Given the description of an element on the screen output the (x, y) to click on. 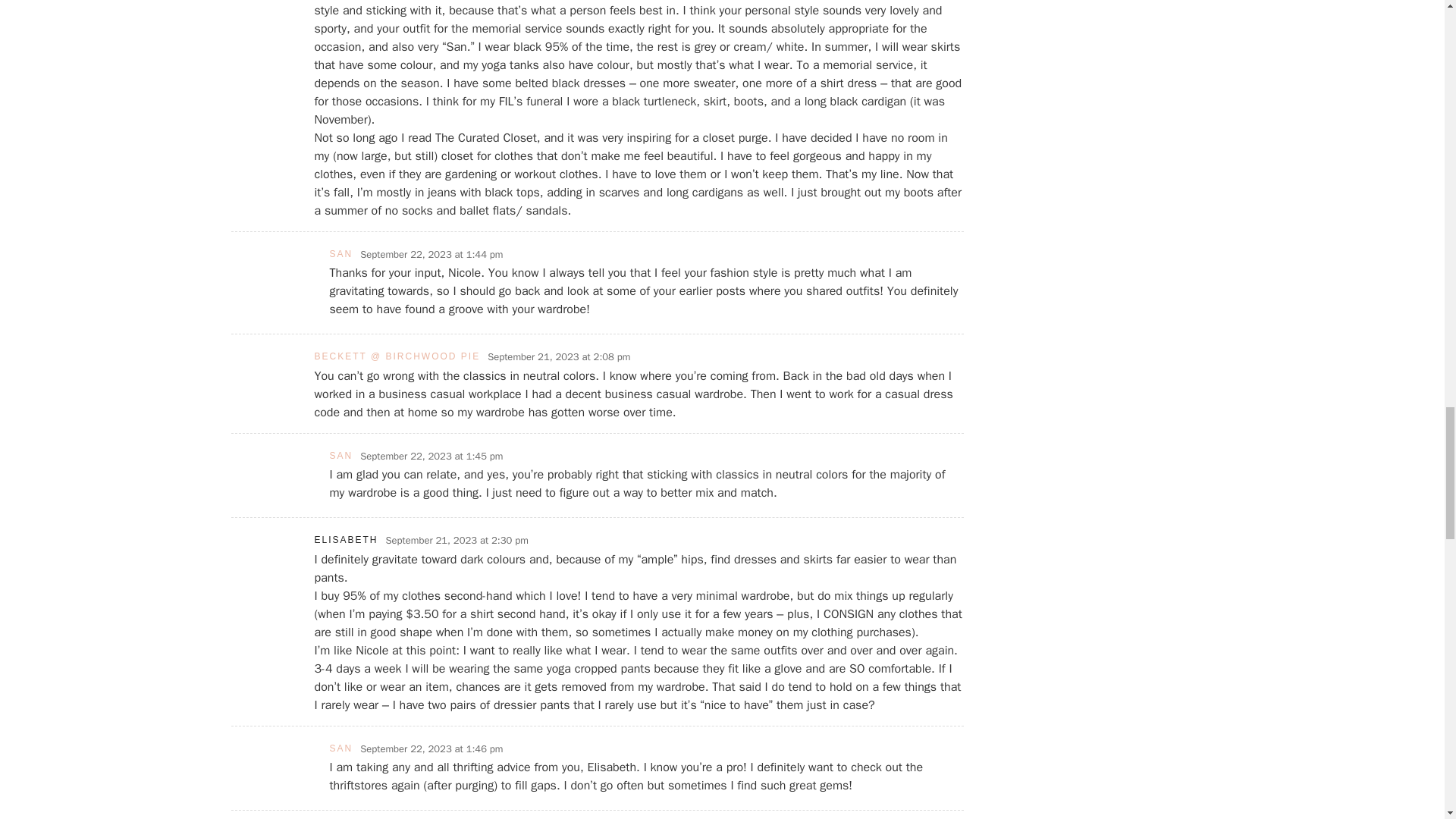
September 21, 2023 at 2:30 pm (456, 540)
September 22, 2023 at 1:46 pm (430, 749)
September 21, 2023 at 2:08 pm (558, 356)
September 22, 2023 at 1:45 pm (430, 456)
SAN (340, 455)
SAN (340, 253)
September 22, 2023 at 1:44 pm (430, 254)
SAN (340, 747)
